Given the description of an element on the screen output the (x, y) to click on. 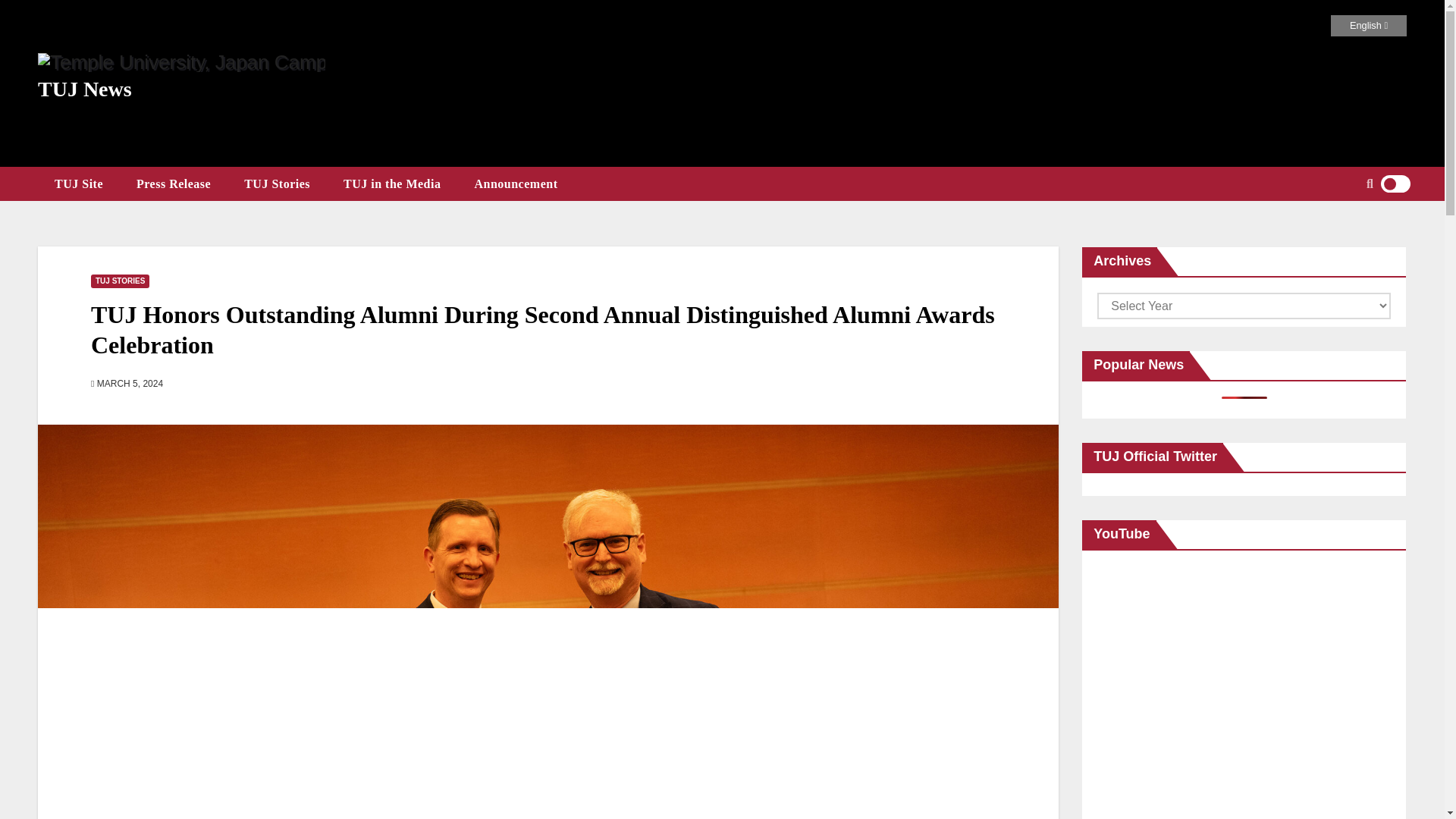
TUJ Site (78, 183)
TUJ Site (78, 183)
TUJ in the Media (391, 183)
Press Release (173, 183)
Announcement (515, 183)
TUJ News (84, 88)
Temple University, Japan Campus Campus Tour (1243, 692)
Press Release (173, 183)
